Given the description of an element on the screen output the (x, y) to click on. 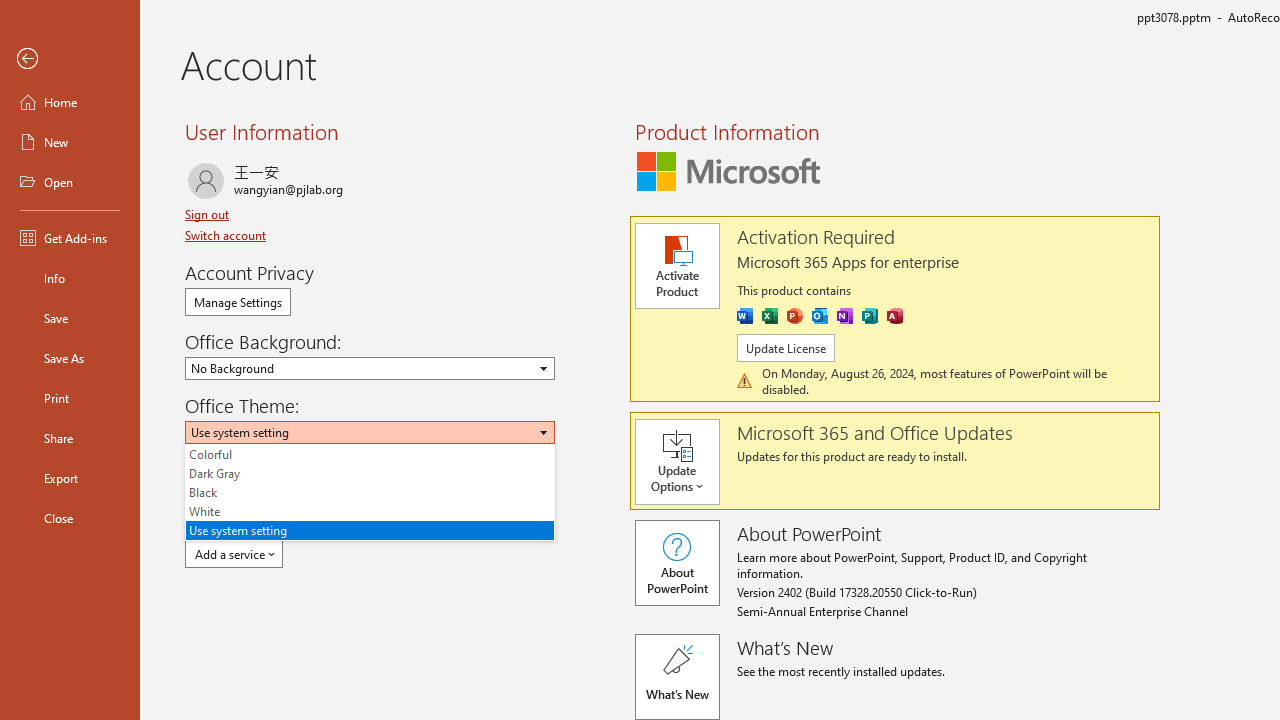
Update License (785, 348)
PowerPoint (794, 316)
Excel (769, 316)
Get Add-ins (69, 237)
Publisher (869, 316)
Outlook (819, 316)
Info (69, 277)
New (69, 141)
